Given the description of an element on the screen output the (x, y) to click on. 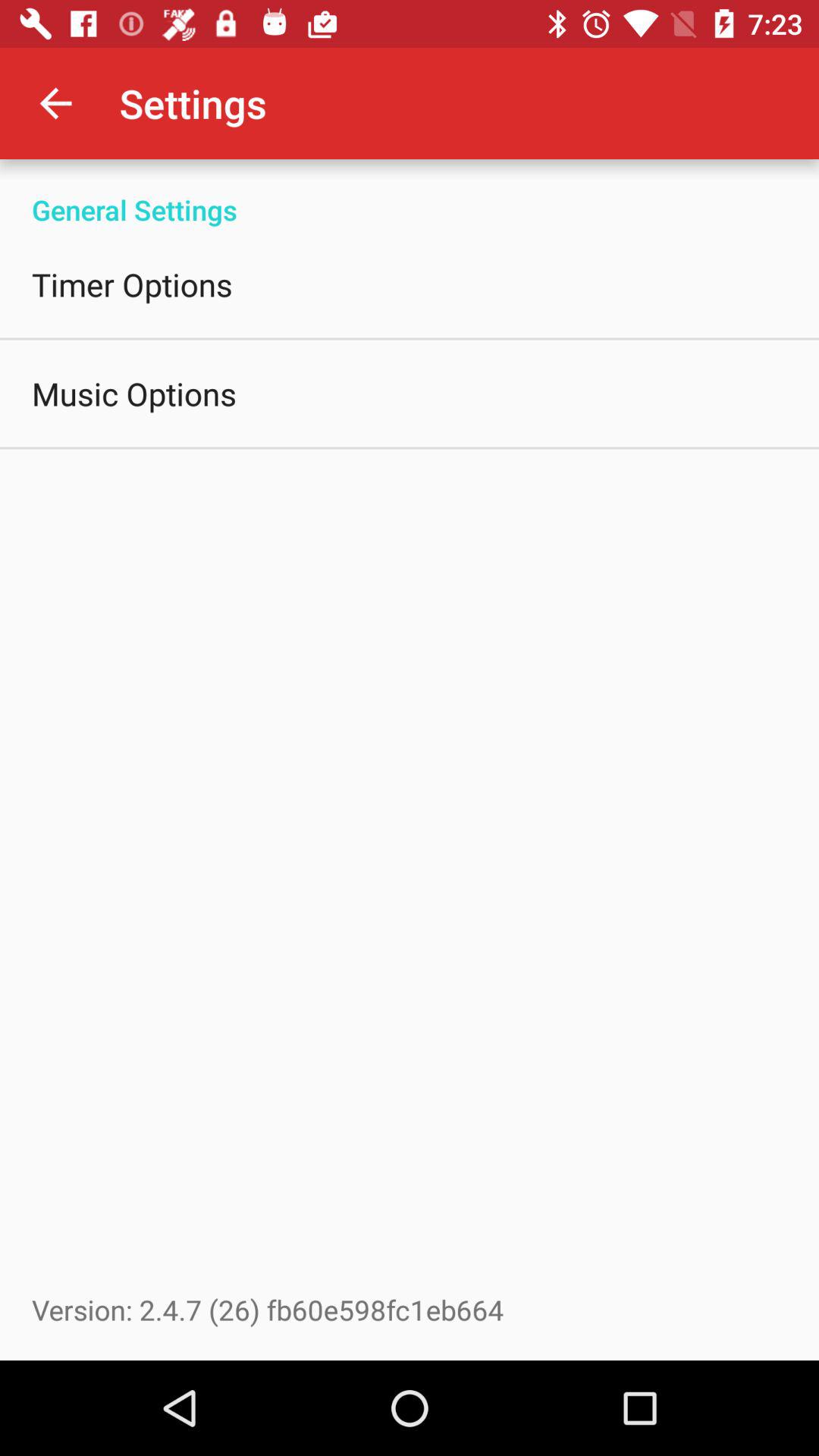
swipe to the general settings (409, 193)
